Given the description of an element on the screen output the (x, y) to click on. 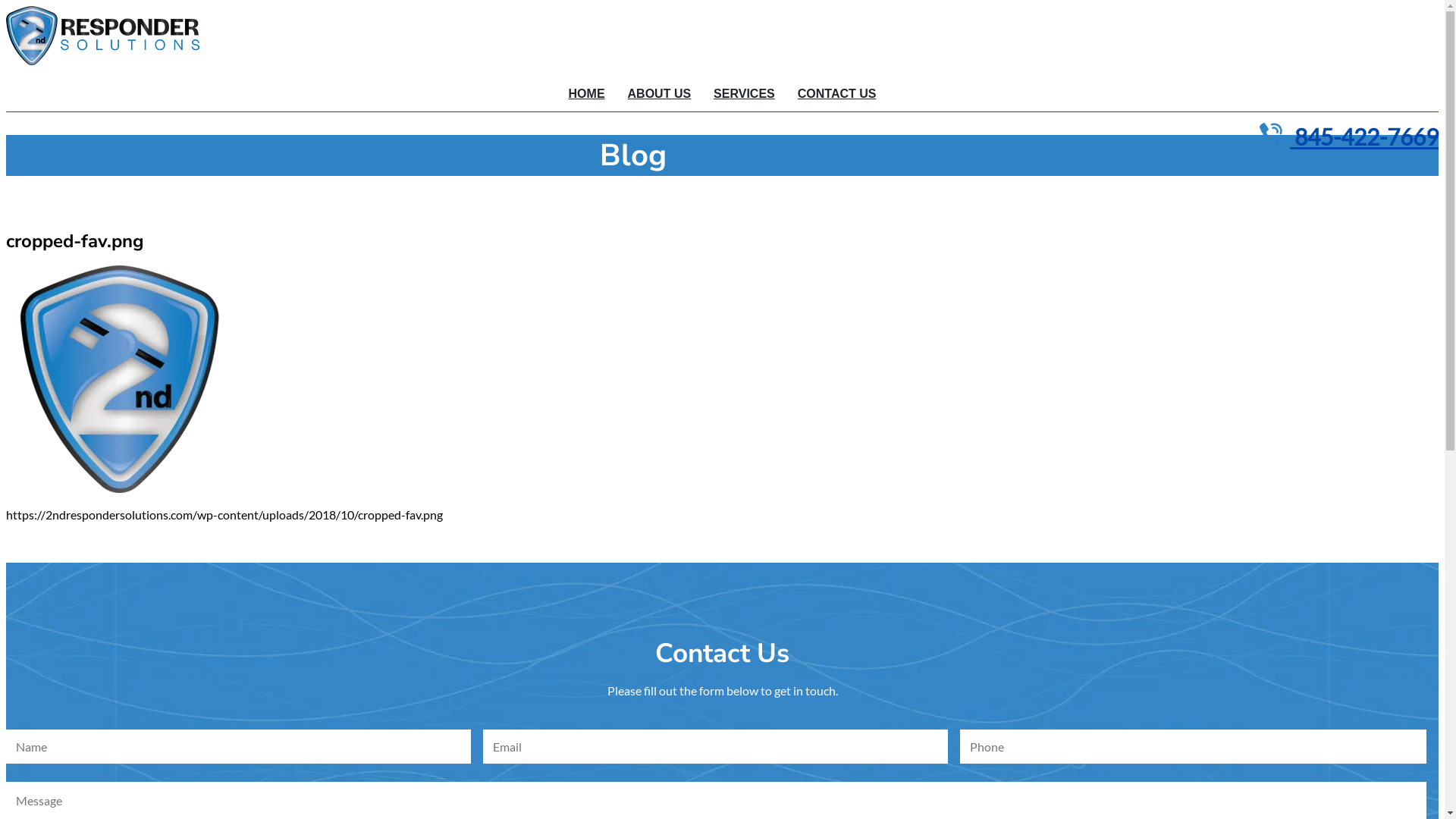
ABOUT US Element type: text (659, 93)
CONTACT US Element type: text (836, 93)
HOME Element type: text (586, 93)
845-422-7669 Element type: text (1348, 136)
SERVICES Element type: text (744, 93)
